Given the description of an element on the screen output the (x, y) to click on. 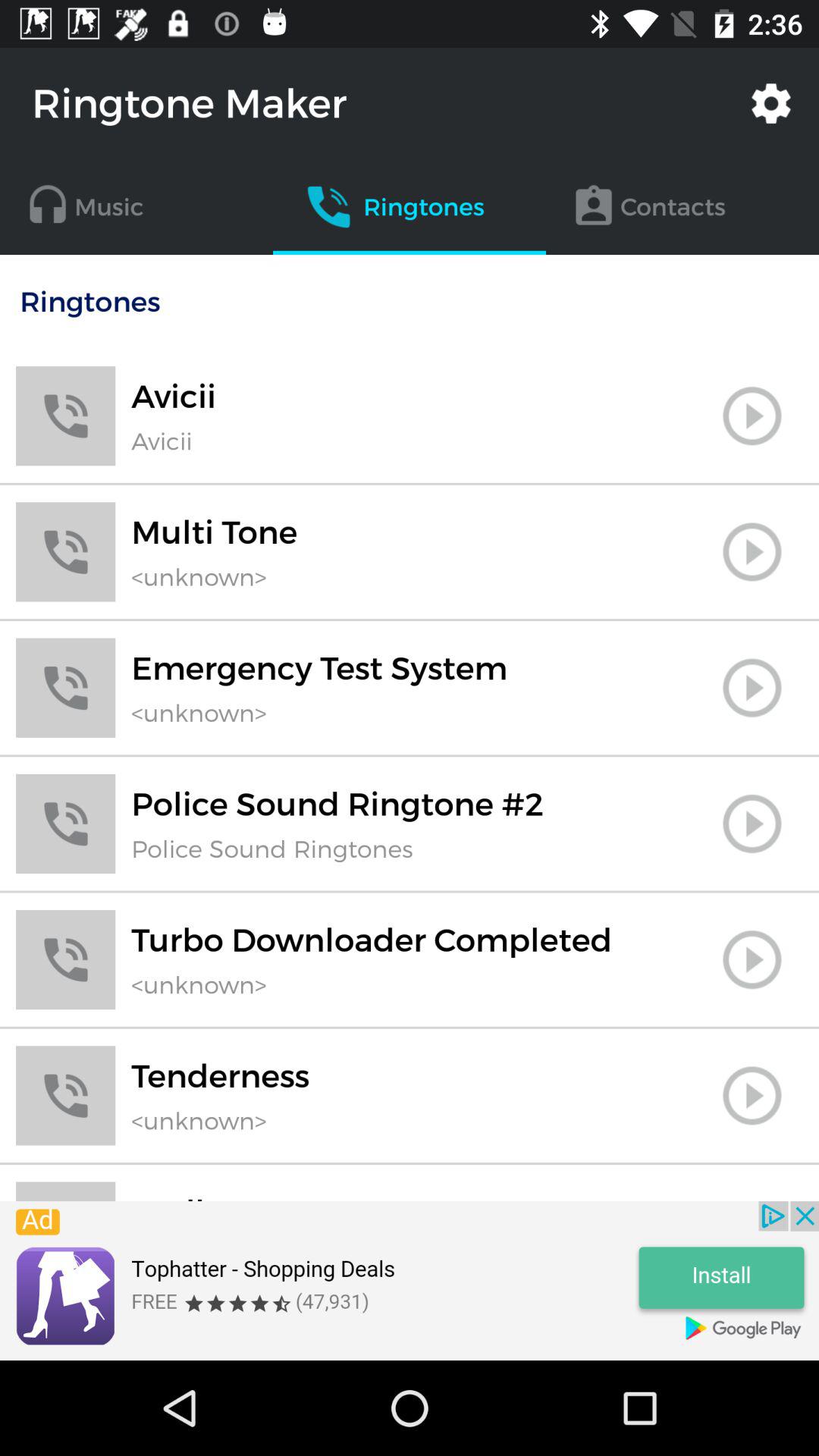
set ringtone option (752, 1198)
